Given the description of an element on the screen output the (x, y) to click on. 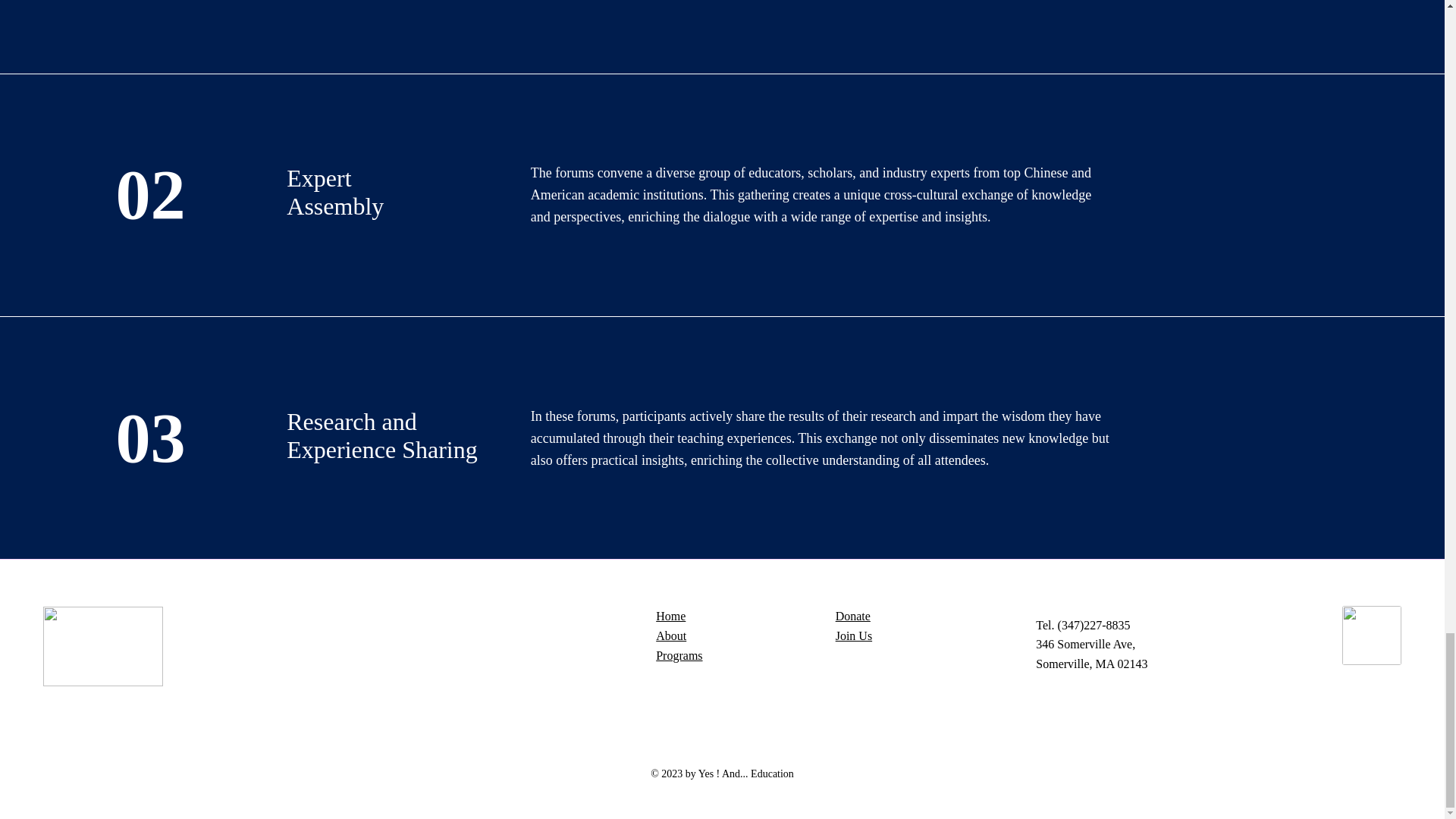
About (670, 635)
Donate (852, 615)
Join Us (853, 635)
Programs (678, 655)
Home (670, 615)
